Given the description of an element on the screen output the (x, y) to click on. 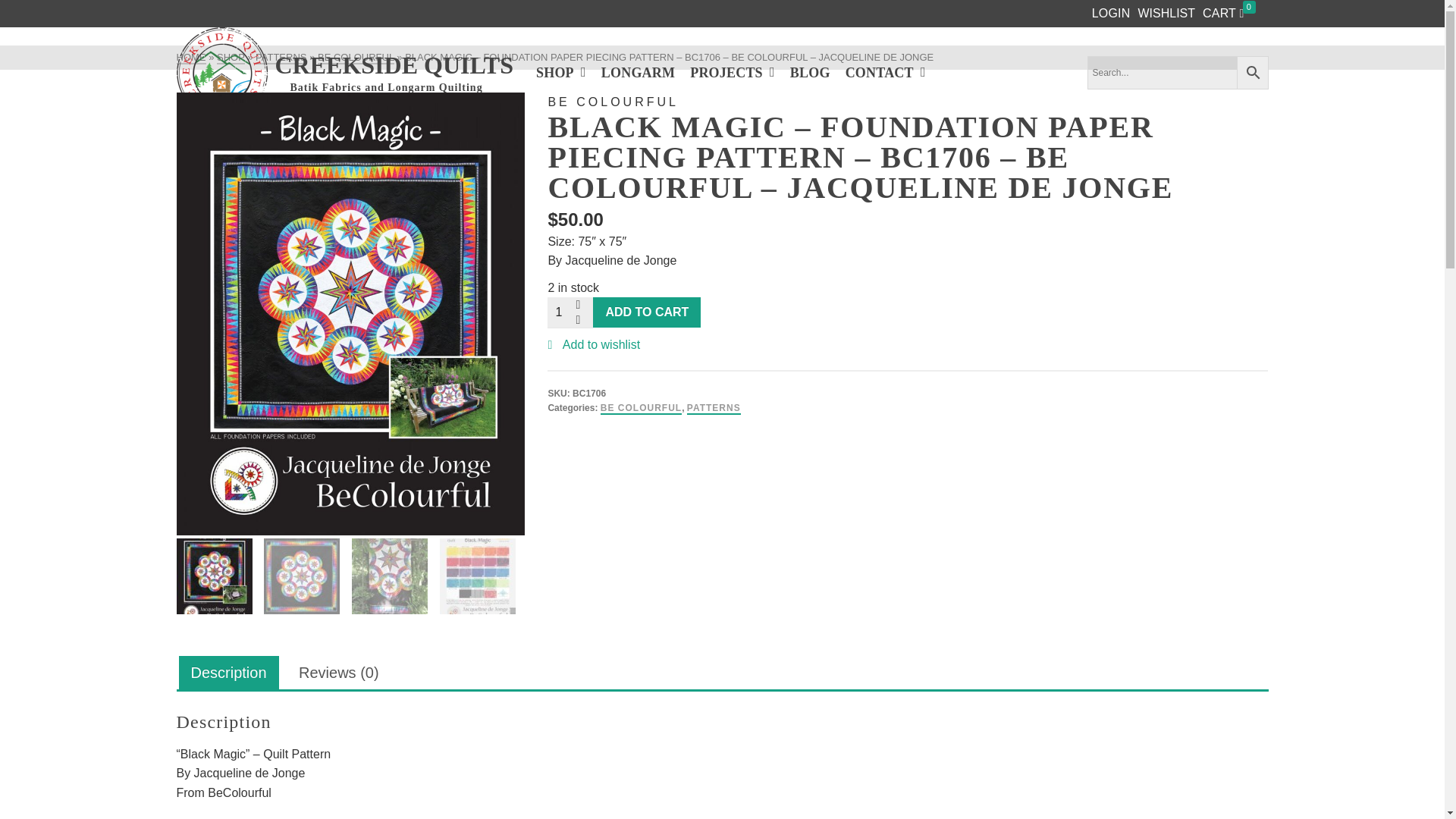
HOME (190, 57)
1 (569, 312)
LOGIN (1111, 13)
BLOG (810, 72)
LONGARM (638, 72)
SHOP (561, 72)
PATTERNS (280, 57)
SHOP (230, 57)
BE COLOURFUL (355, 57)
PROJECTS (732, 72)
CONTACT (344, 72)
BC1706 (885, 72)
CART 0 (1166, 12)
